Given the description of an element on the screen output the (x, y) to click on. 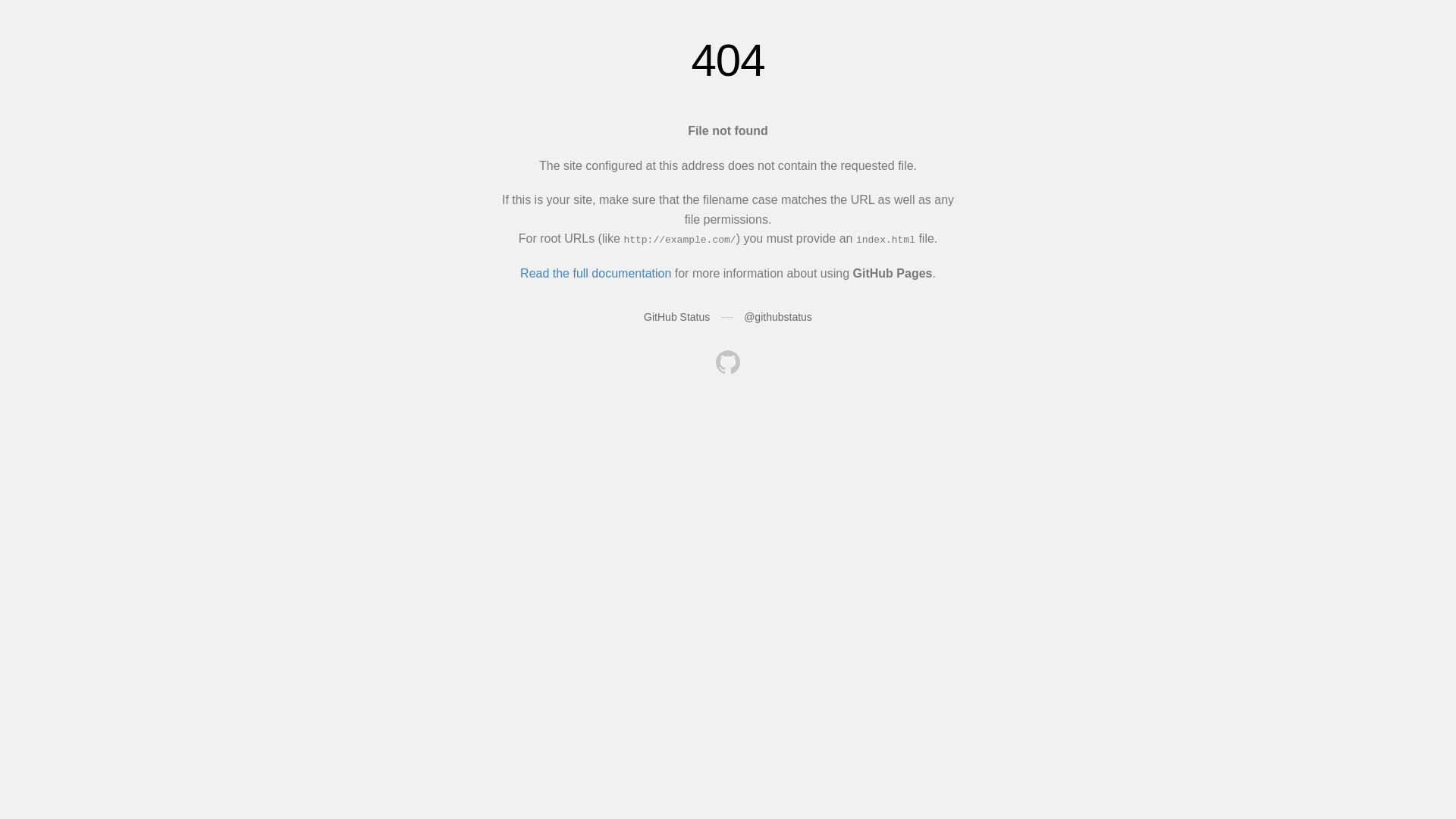
GitHub Status Element type: text (676, 316)
@githubstatus Element type: text (777, 316)
Read the full documentation Element type: text (595, 272)
